Given the description of an element on the screen output the (x, y) to click on. 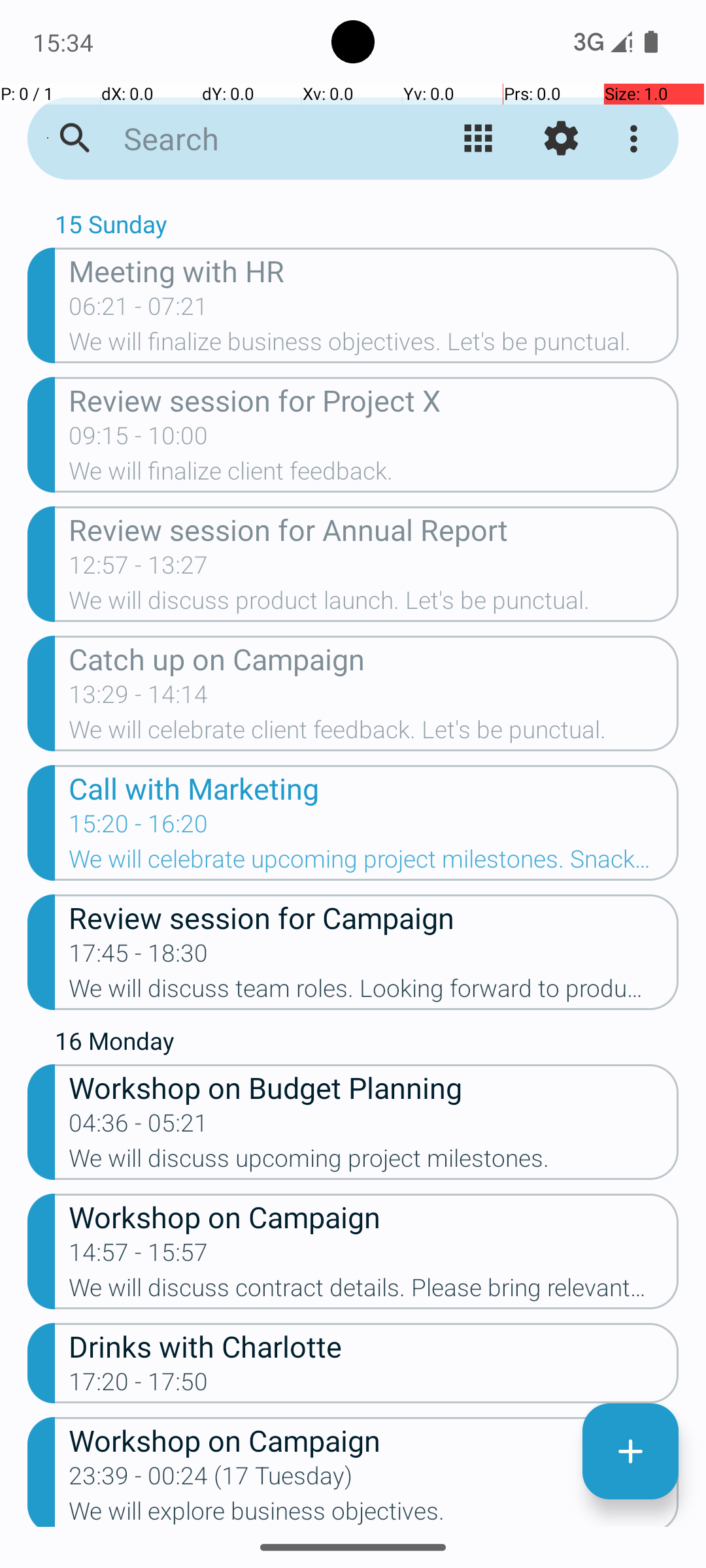
15 Sunday Element type: android.widget.TextView (366, 227)
16 Monday Element type: android.widget.TextView (366, 1043)
Meeting with HR Element type: android.widget.TextView (373, 269)
06:21 - 07:21 Element type: android.widget.TextView (137, 309)
We will finalize business objectives. Let's be punctual. Element type: android.widget.TextView (373, 345)
Review session for Project X Element type: android.widget.TextView (373, 399)
09:15 - 10:00 Element type: android.widget.TextView (137, 439)
We will finalize client feedback. Element type: android.widget.TextView (373, 474)
Review session for Annual Report Element type: android.widget.TextView (373, 528)
12:57 - 13:27 Element type: android.widget.TextView (137, 568)
We will discuss product launch. Let's be punctual. Element type: android.widget.TextView (373, 603)
Catch up on Campaign Element type: android.widget.TextView (373, 657)
13:29 - 14:14 Element type: android.widget.TextView (137, 698)
We will celebrate client feedback. Let's be punctual. Element type: android.widget.TextView (373, 733)
Call with Marketing Element type: android.widget.TextView (373, 787)
15:20 - 16:20 Element type: android.widget.TextView (137, 827)
We will celebrate upcoming project milestones. Snacks will be provided. Element type: android.widget.TextView (373, 862)
17:45 - 18:30 Element type: android.widget.TextView (137, 956)
We will discuss team roles. Looking forward to productive discussions. Element type: android.widget.TextView (373, 992)
Workshop on Budget Planning Element type: android.widget.TextView (373, 1086)
04:36 - 05:21 Element type: android.widget.TextView (137, 1126)
We will discuss upcoming project milestones. Element type: android.widget.TextView (373, 1161)
Workshop on Campaign Element type: android.widget.TextView (373, 1215)
14:57 - 15:57 Element type: android.widget.TextView (137, 1256)
We will discuss contract details. Please bring relevant documents. Element type: android.widget.TextView (373, 1291)
Drinks with Charlotte Element type: android.widget.TextView (373, 1345)
17:20 - 17:50 Element type: android.widget.TextView (137, 1385)
23:39 - 00:24 (17 Tuesday) Element type: android.widget.TextView (210, 1479)
We will explore business objectives. Element type: android.widget.TextView (373, 1511)
